Given the description of an element on the screen output the (x, y) to click on. 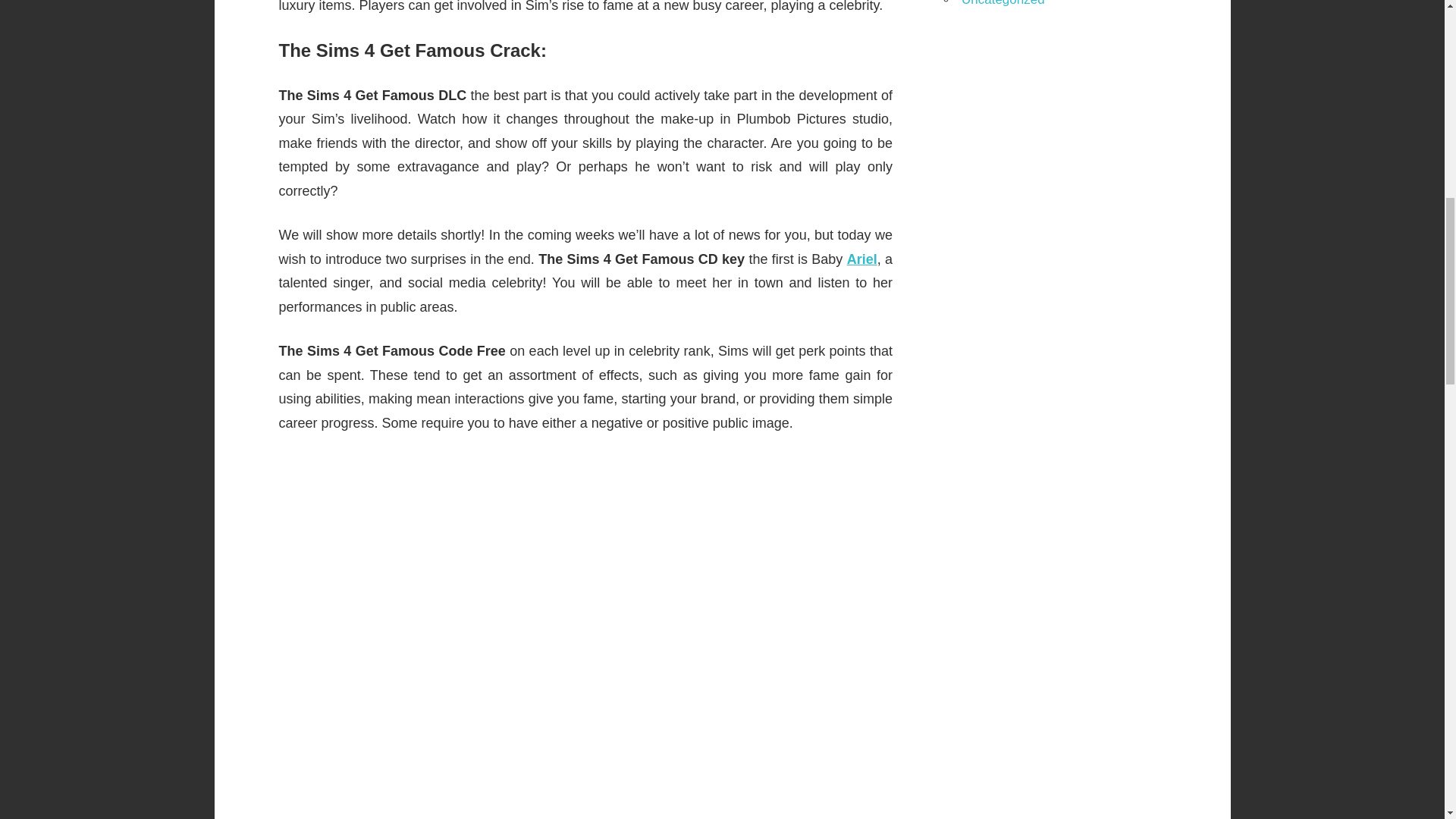
Ariel (862, 258)
